Given the description of an element on the screen output the (x, y) to click on. 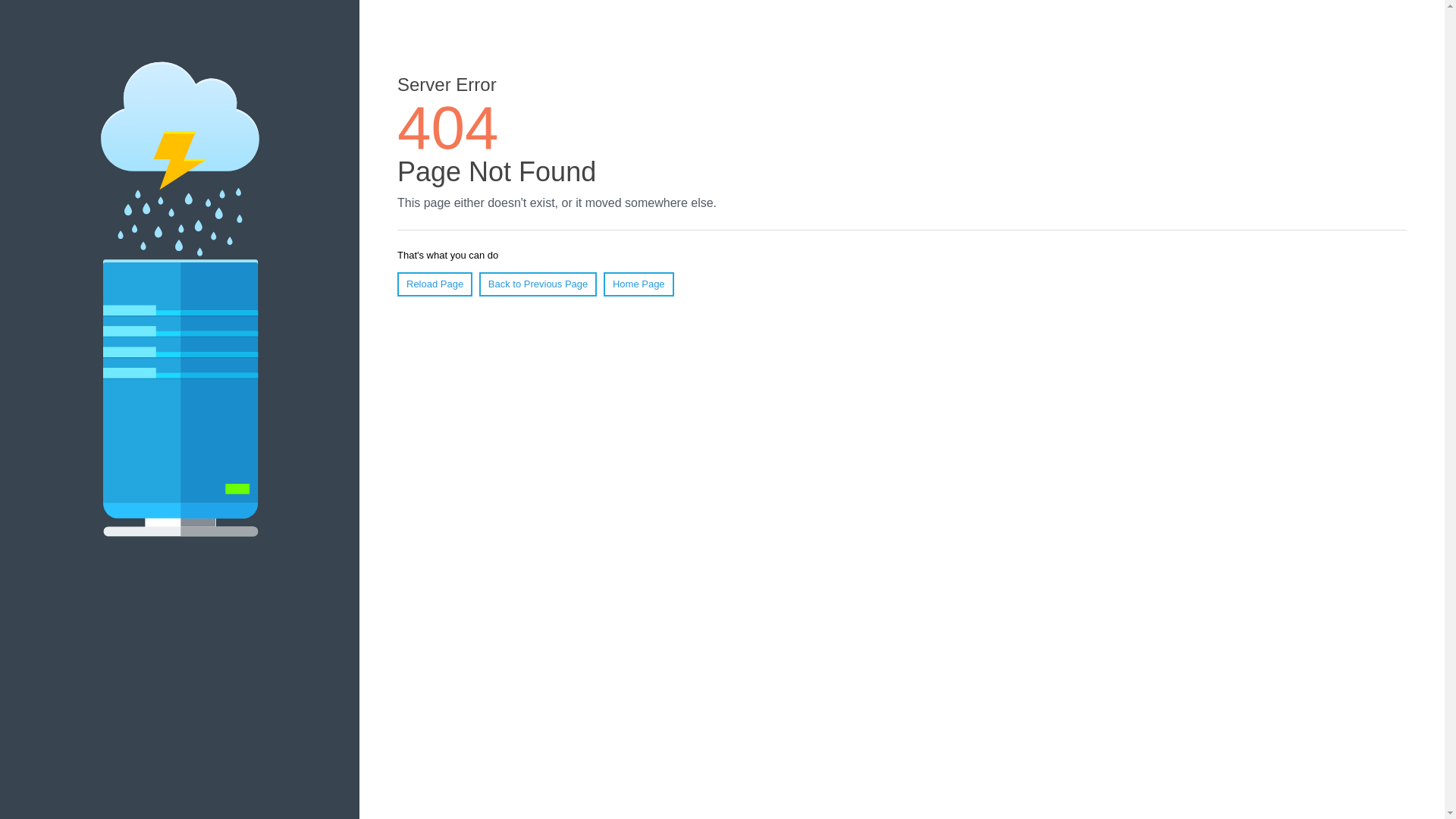
Home Page Element type: text (638, 284)
Back to Previous Page Element type: text (538, 284)
Reload Page Element type: text (434, 284)
